Given the description of an element on the screen output the (x, y) to click on. 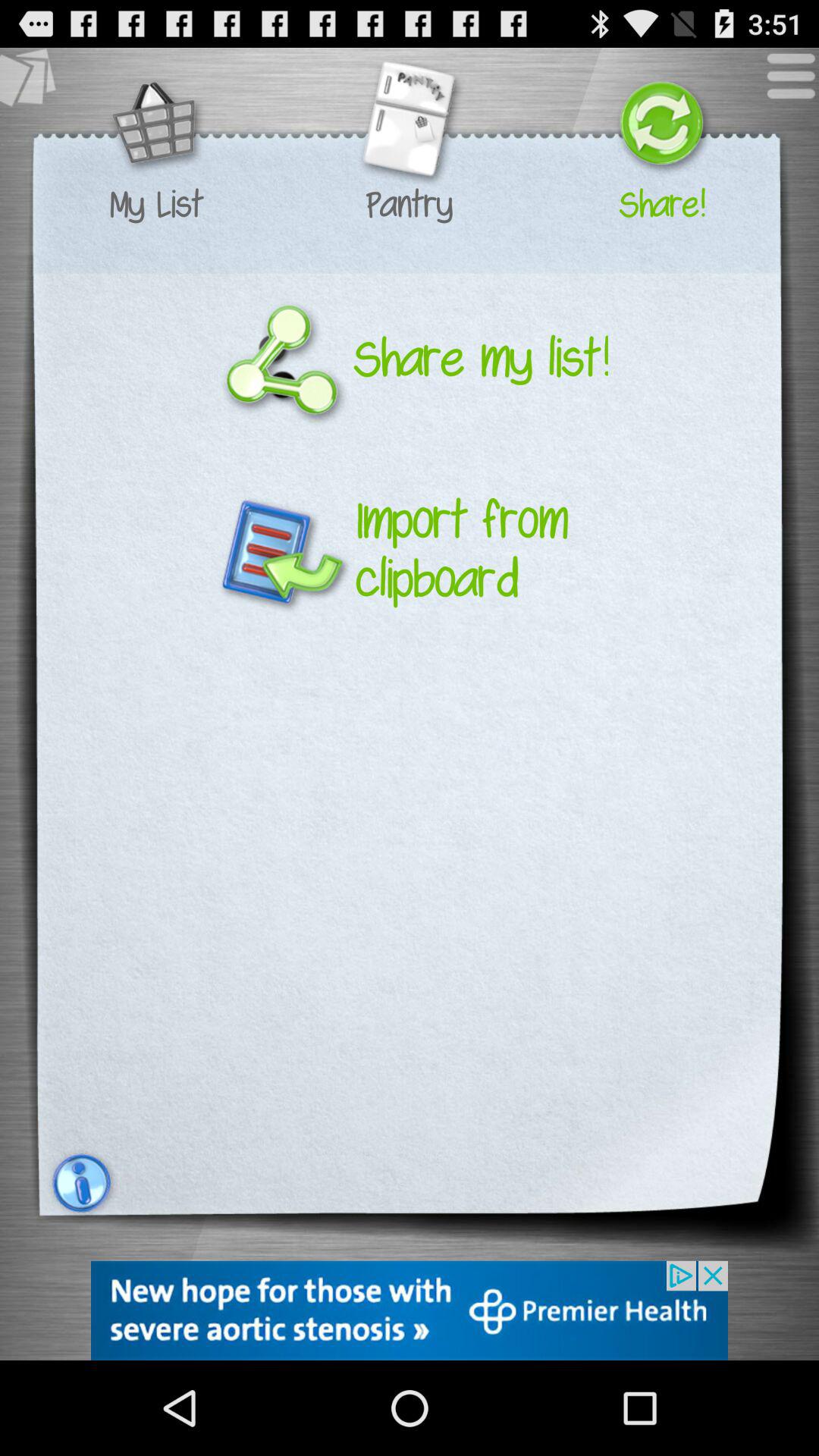
pantry (408, 125)
